Given the description of an element on the screen output the (x, y) to click on. 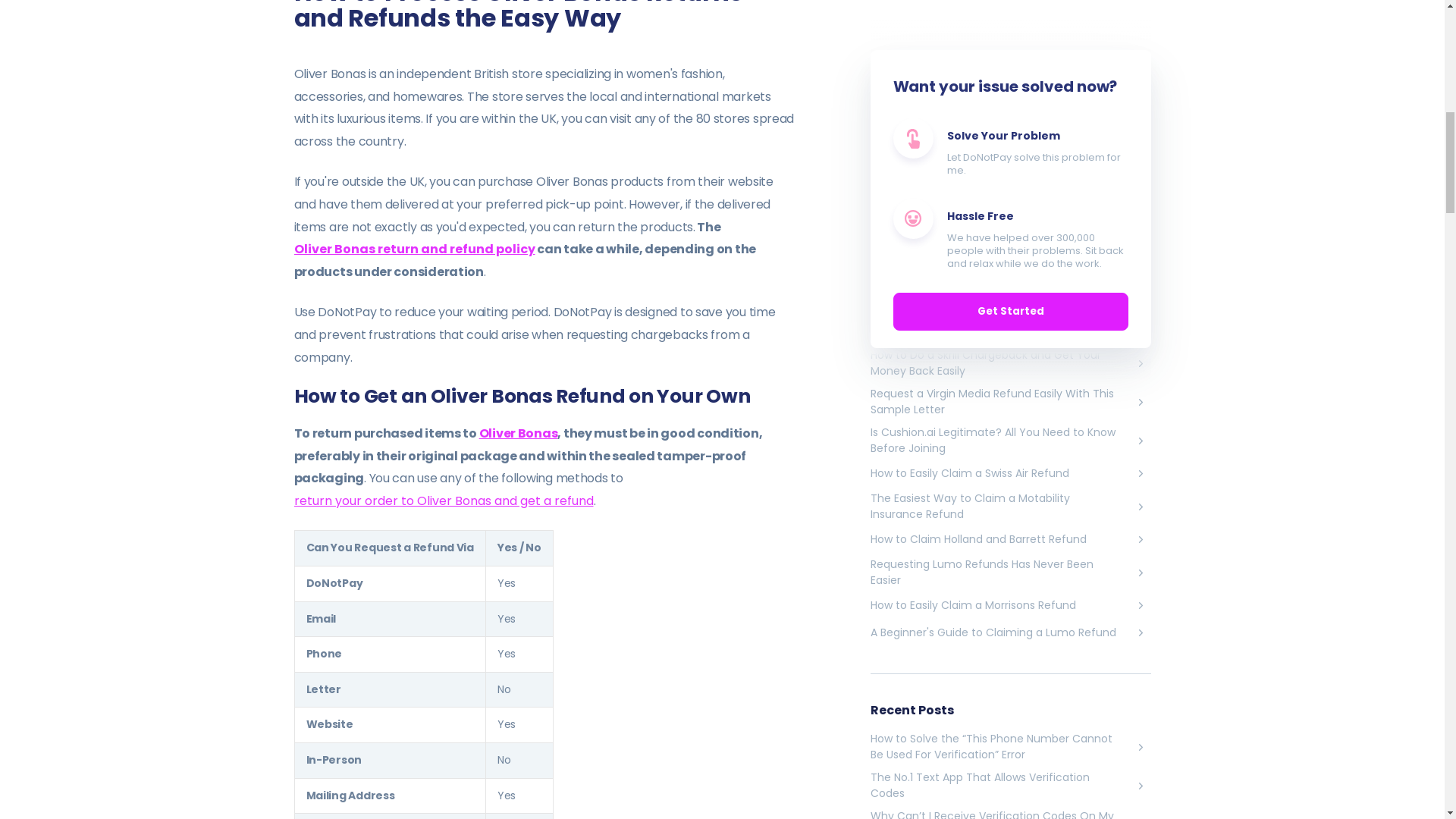
Oliver Bonas return and refund policy (414, 248)
Oliver Bonas (518, 433)
return your order to Oliver Bonas and get a refund (444, 500)
